Given the description of an element on the screen output the (x, y) to click on. 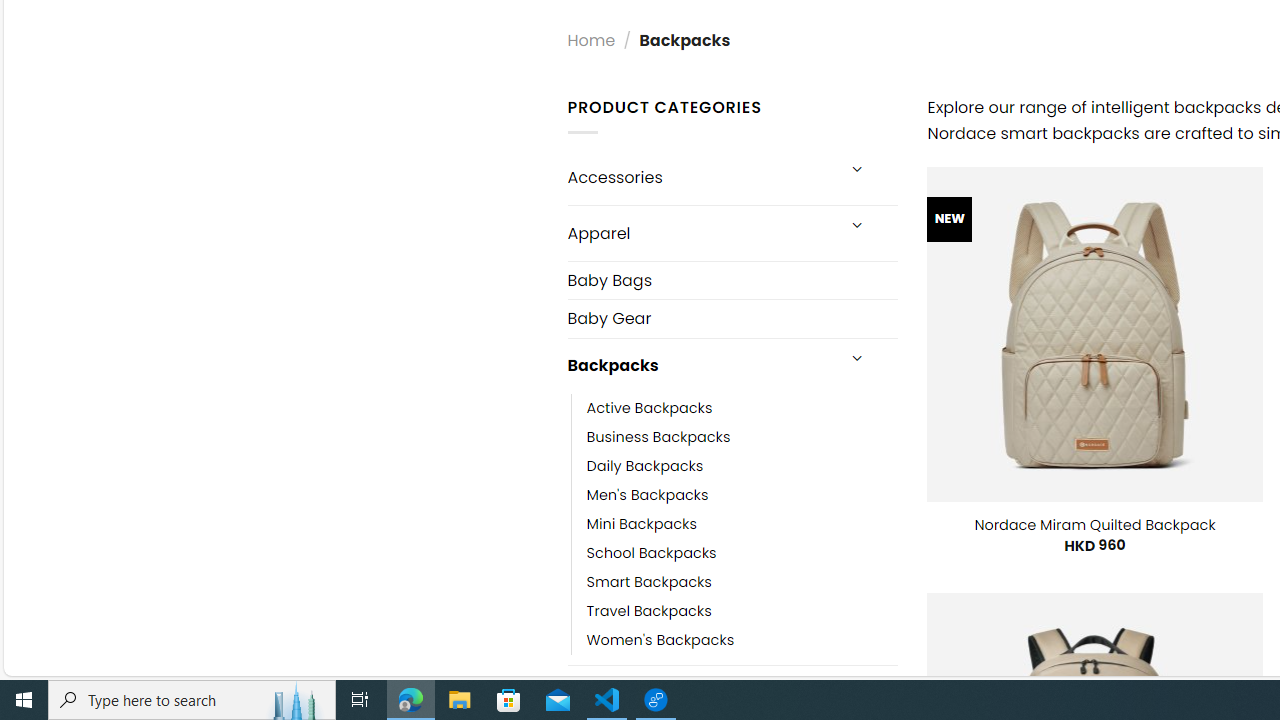
School Backpacks (651, 552)
Travel Backpacks (648, 610)
Business Backpacks (742, 436)
Apparel (700, 232)
Women's Backpacks (660, 639)
Backpacks (700, 366)
Baby Bags (732, 280)
Daily Backpacks (645, 465)
Business Backpacks (658, 436)
Men's Backpacks (647, 494)
Women's Backpacks (742, 639)
Mini Backpacks (742, 524)
